Given the description of an element on the screen output the (x, y) to click on. 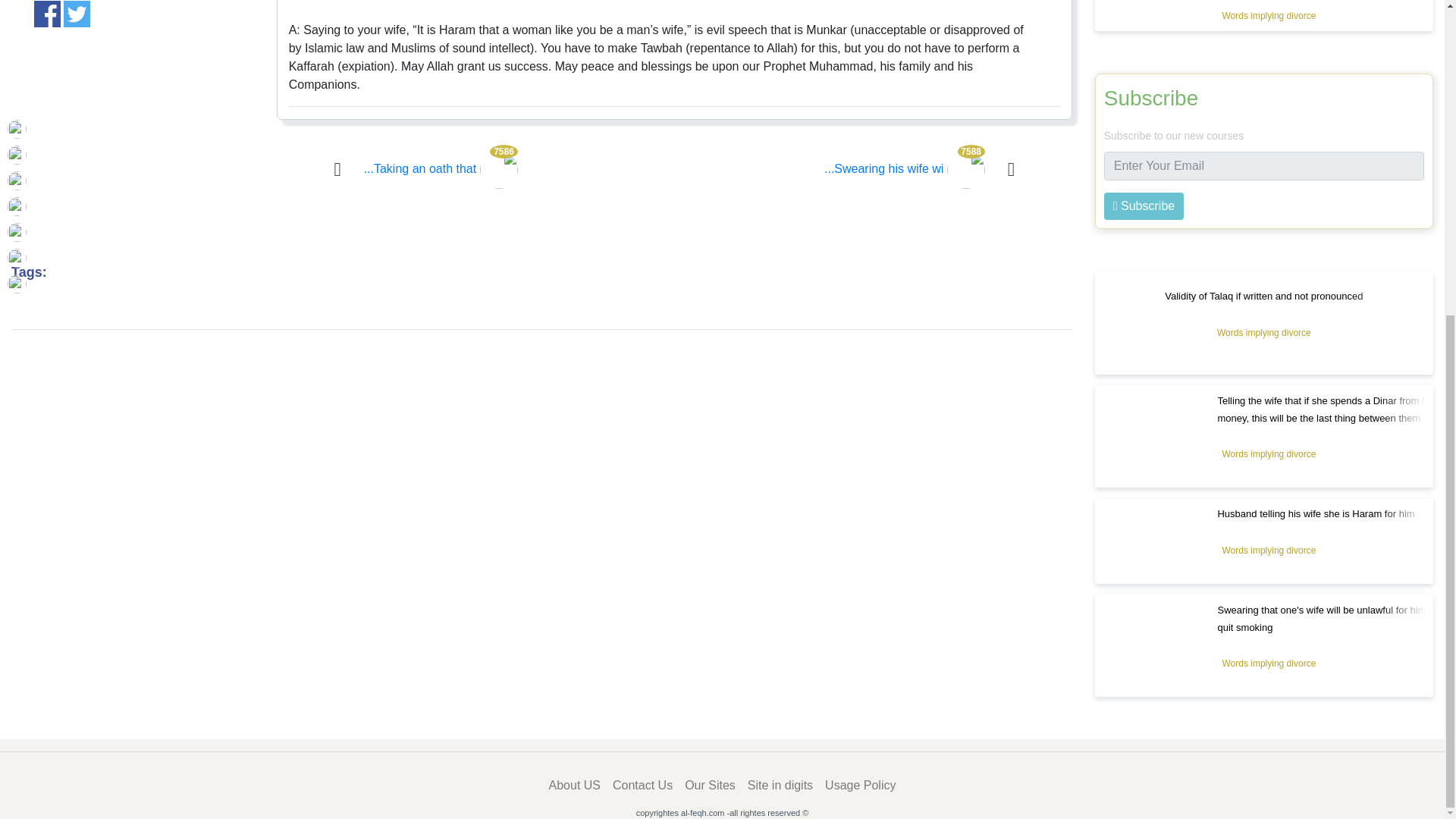
Words implying divorce (1268, 15)
